Given the description of an element on the screen output the (x, y) to click on. 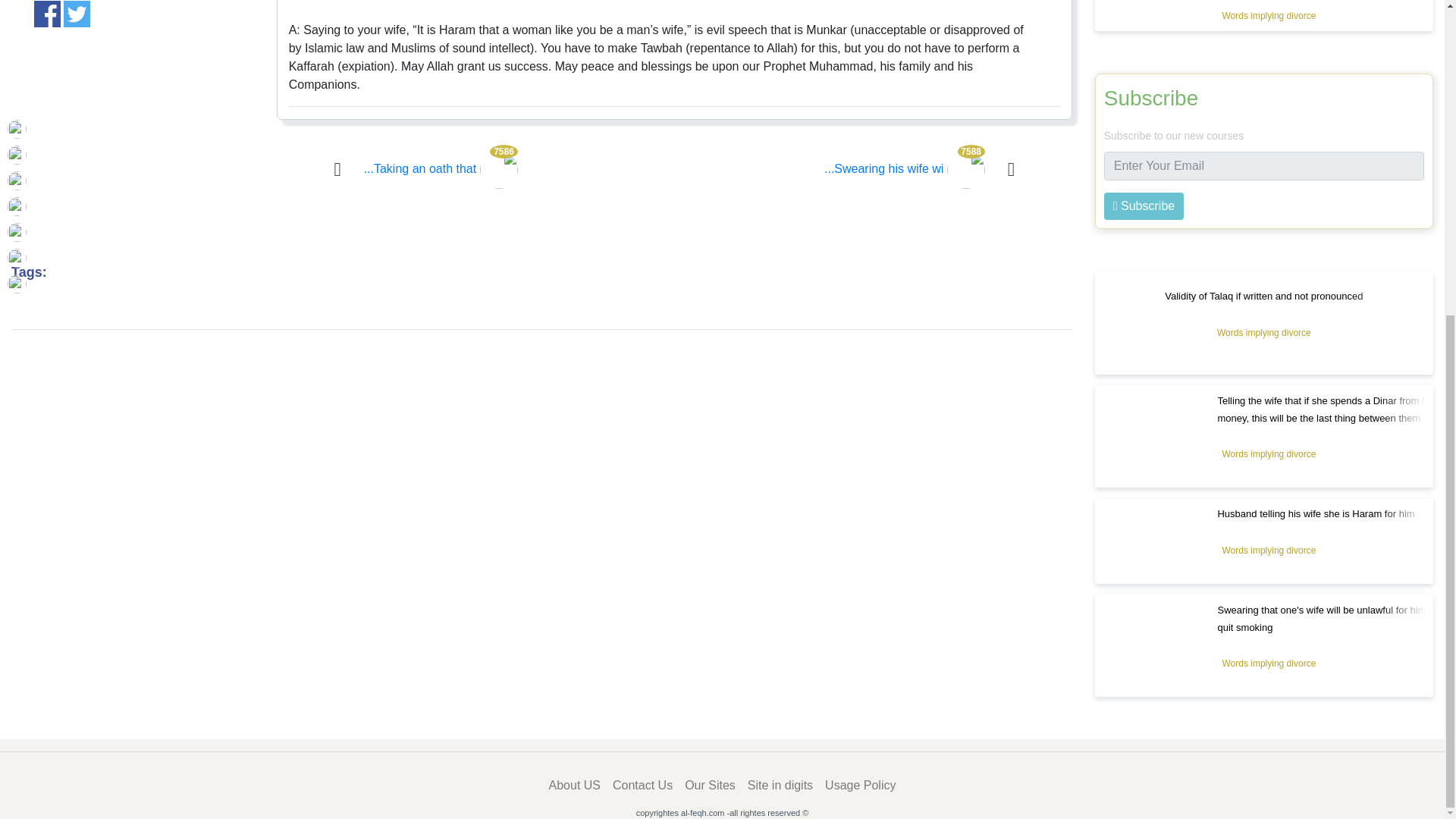
Words implying divorce (1268, 15)
